Given the description of an element on the screen output the (x, y) to click on. 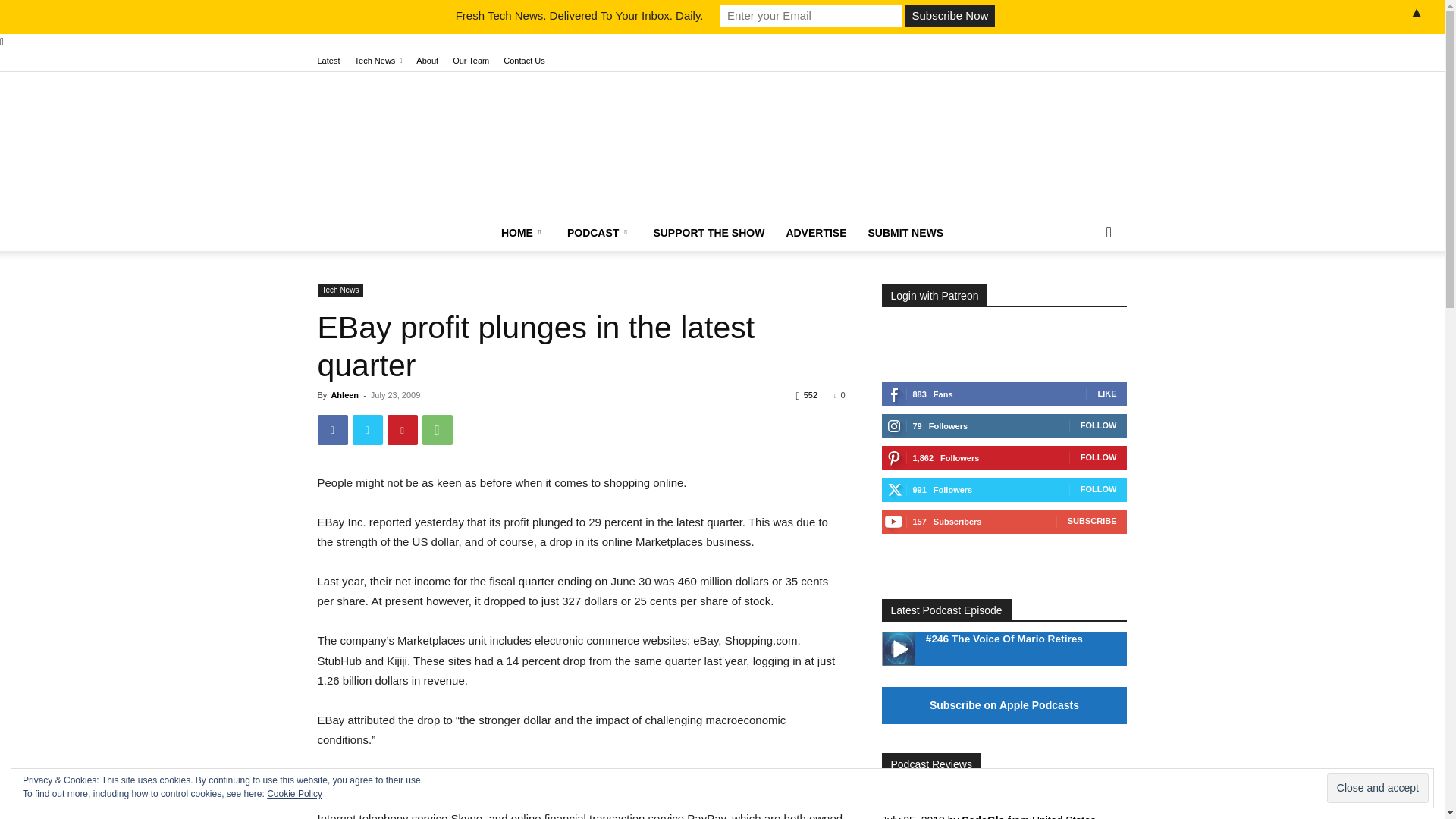
About (427, 60)
HOME (523, 232)
Subscribe Now (949, 15)
Tech News (379, 60)
Contact Us (523, 60)
Latest (328, 60)
PODCAST (599, 232)
Close and accept (1377, 788)
Our Team (470, 60)
